Given the description of an element on the screen output the (x, y) to click on. 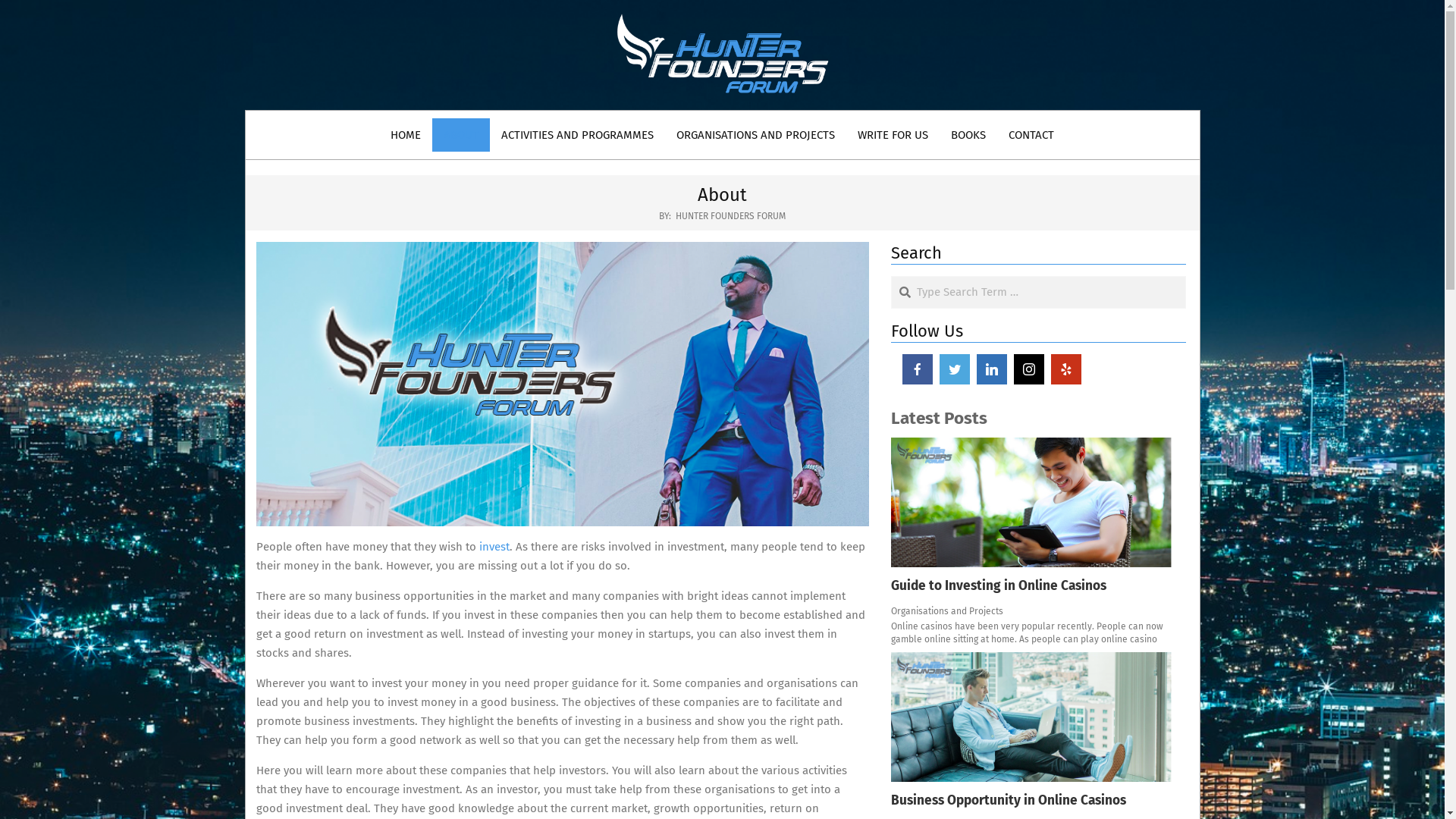
ACTIVITIES AND PROGRAMMES Element type: text (577, 134)
invest Element type: text (494, 546)
facebook Element type: text (917, 369)
twitter Element type: text (954, 369)
yelp Element type: text (1066, 369)
Business Opportunity in Online Casinos Element type: text (1038, 734)
CONTACT Element type: text (1031, 134)
ABOUT Element type: text (460, 134)
ORGANISATIONS AND PROJECTS Element type: text (755, 134)
HUNTER FOUNDERS FORUM Element type: text (730, 215)
BOOKS Element type: text (968, 134)
instagram Element type: text (1028, 369)
Guide to Investing in Online Casinos Element type: text (1038, 519)
HOME Element type: text (405, 134)
WRITE FOR US Element type: text (892, 134)
linkedin Element type: text (991, 369)
